Given the description of an element on the screen output the (x, y) to click on. 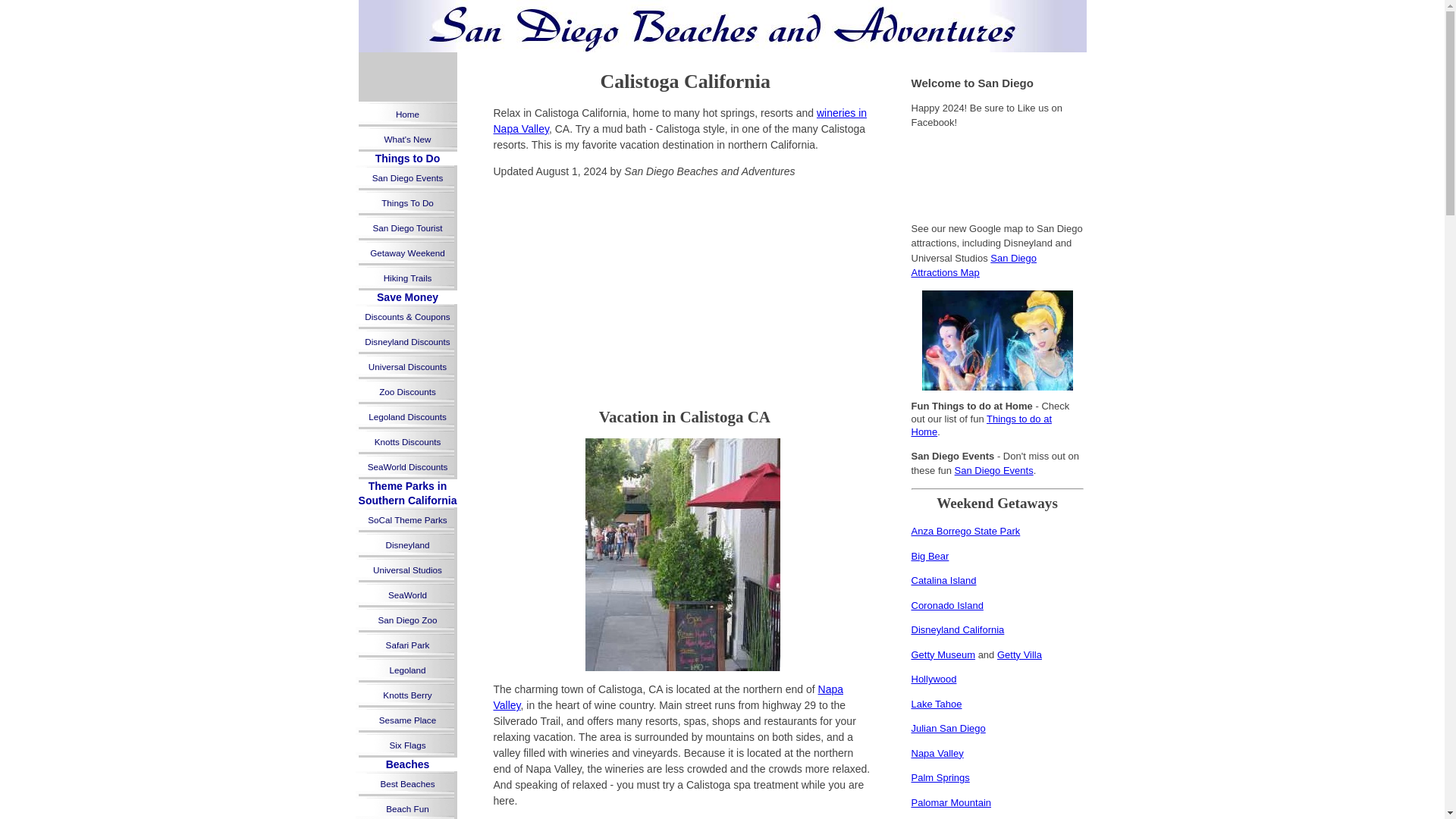
Universal Studios (407, 569)
Knotts Berry (407, 694)
San Diego Zoo (407, 619)
SeaWorld Discounts (407, 466)
SeaWorld (407, 594)
Legoland Discounts (407, 416)
Things To Do (407, 202)
San Diego Events (407, 177)
wineries in Napa Valley (679, 121)
San Diego Tourist Attractions (407, 227)
 Calistoga California (682, 81)
Home (407, 113)
SoCal Theme Parks (407, 519)
Knotts Discounts (407, 441)
Sesame Place (407, 719)
